Given the description of an element on the screen output the (x, y) to click on. 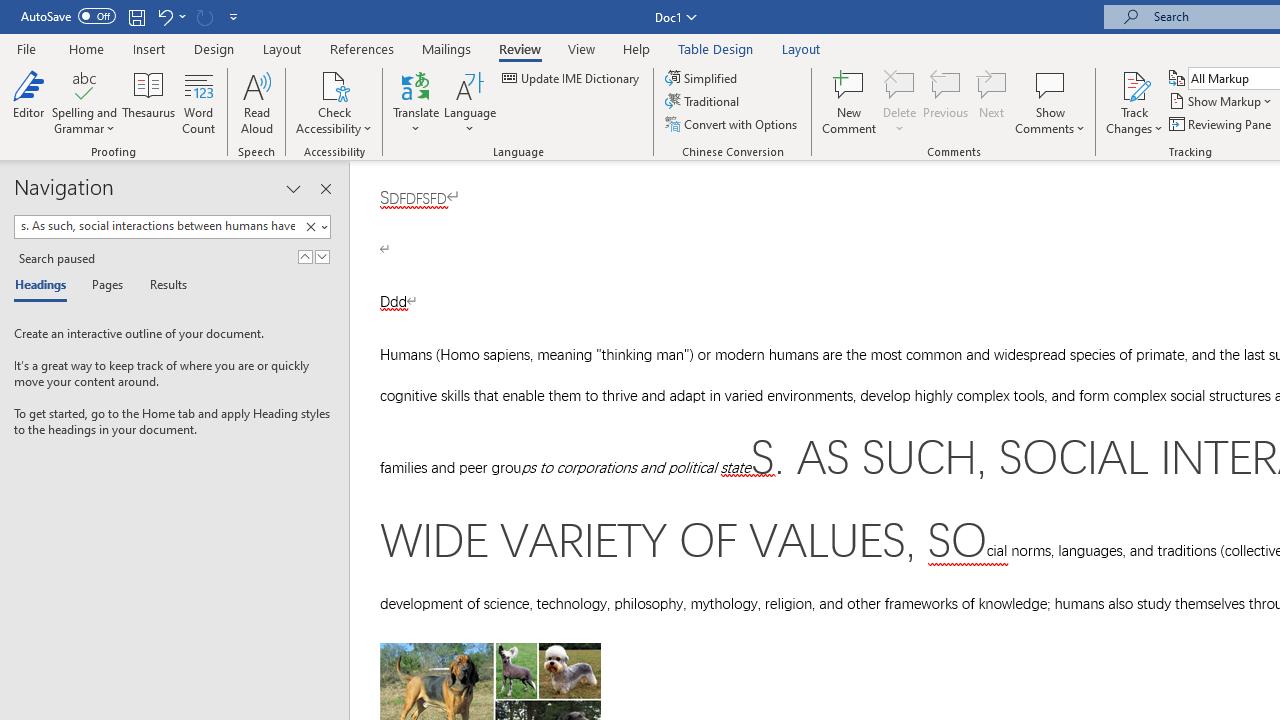
Previous (946, 102)
Show Markup (1222, 101)
Next (991, 102)
Headings (45, 285)
Convert with Options... (732, 124)
Show Comments (1050, 84)
Delete (900, 102)
Can't Repeat (204, 15)
Track Changes (1134, 84)
